Given the description of an element on the screen output the (x, y) to click on. 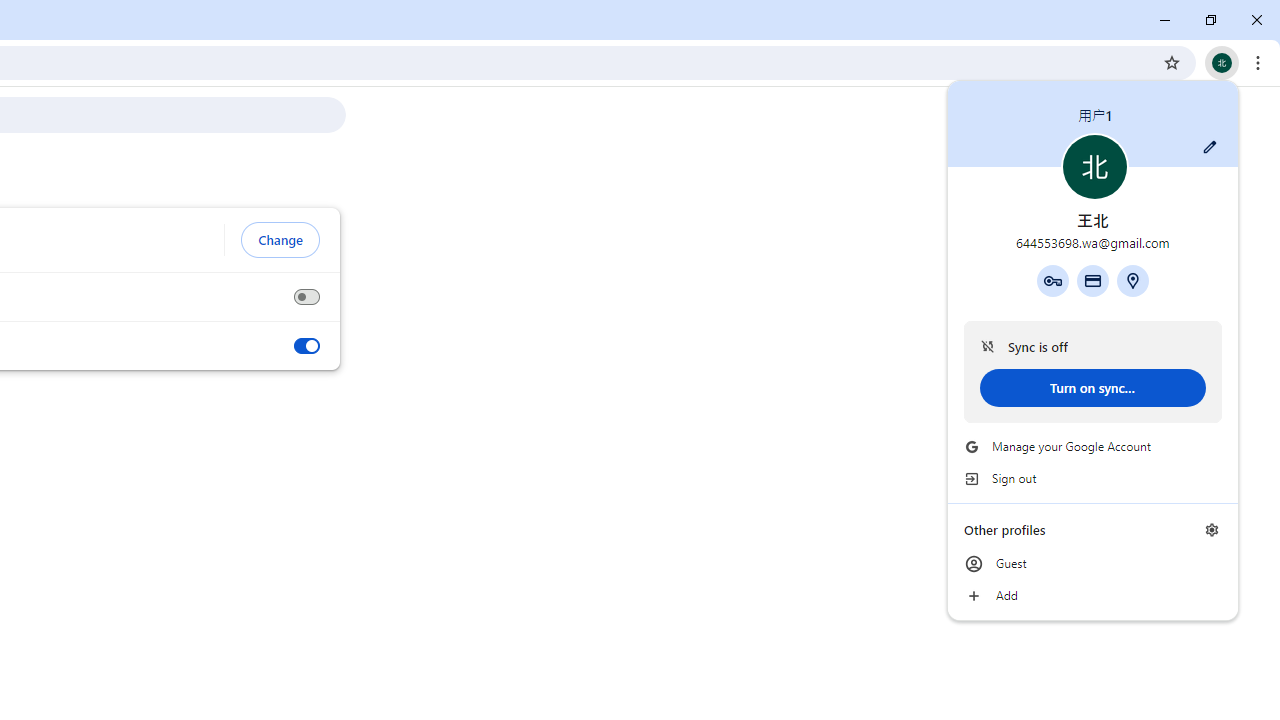
Customize profile (1210, 147)
Minimize (1165, 20)
